Given the description of an element on the screen output the (x, y) to click on. 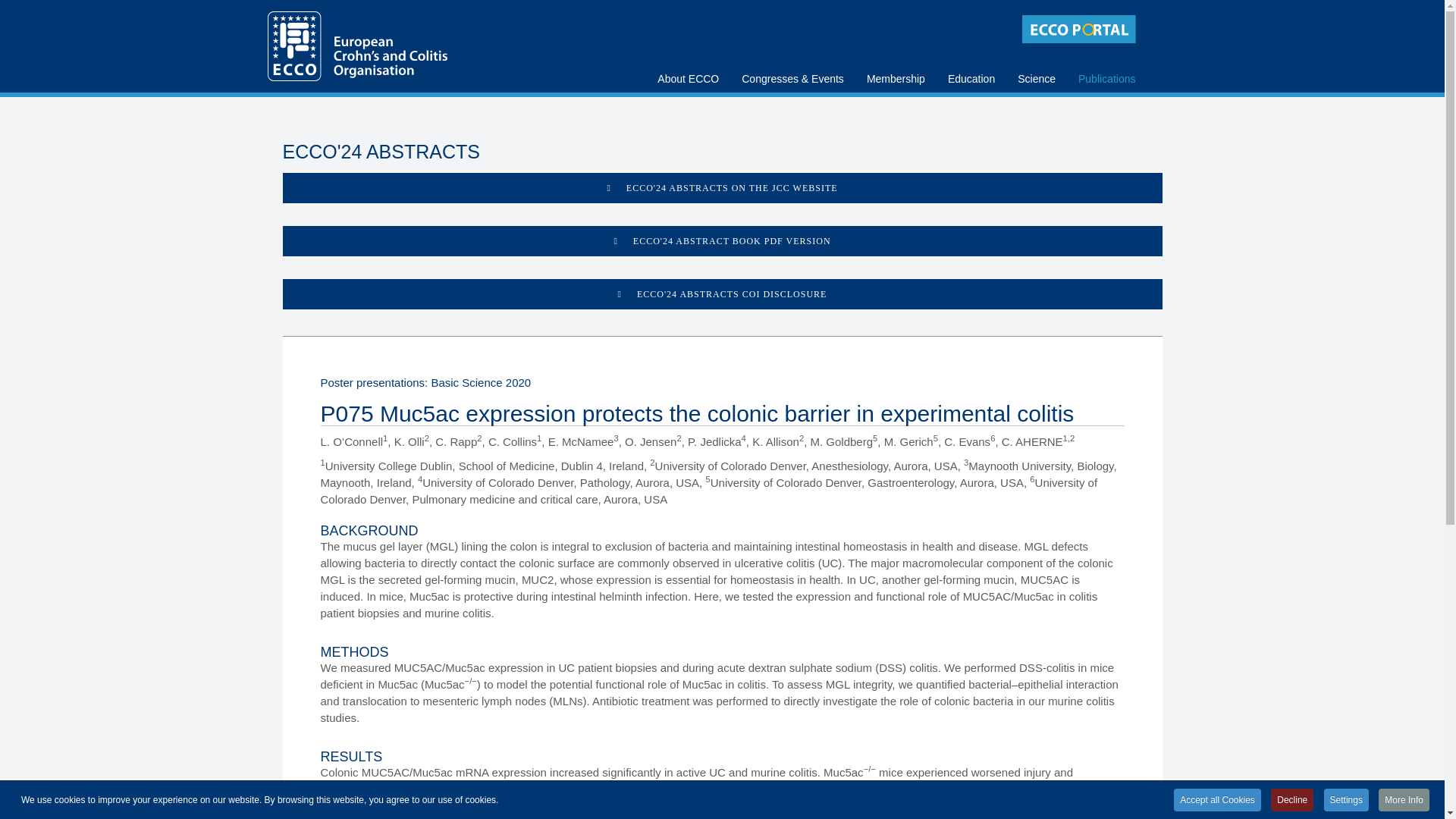
Education (971, 54)
About ECCO (688, 54)
Membership (896, 54)
Science (1036, 54)
